Given the description of an element on the screen output the (x, y) to click on. 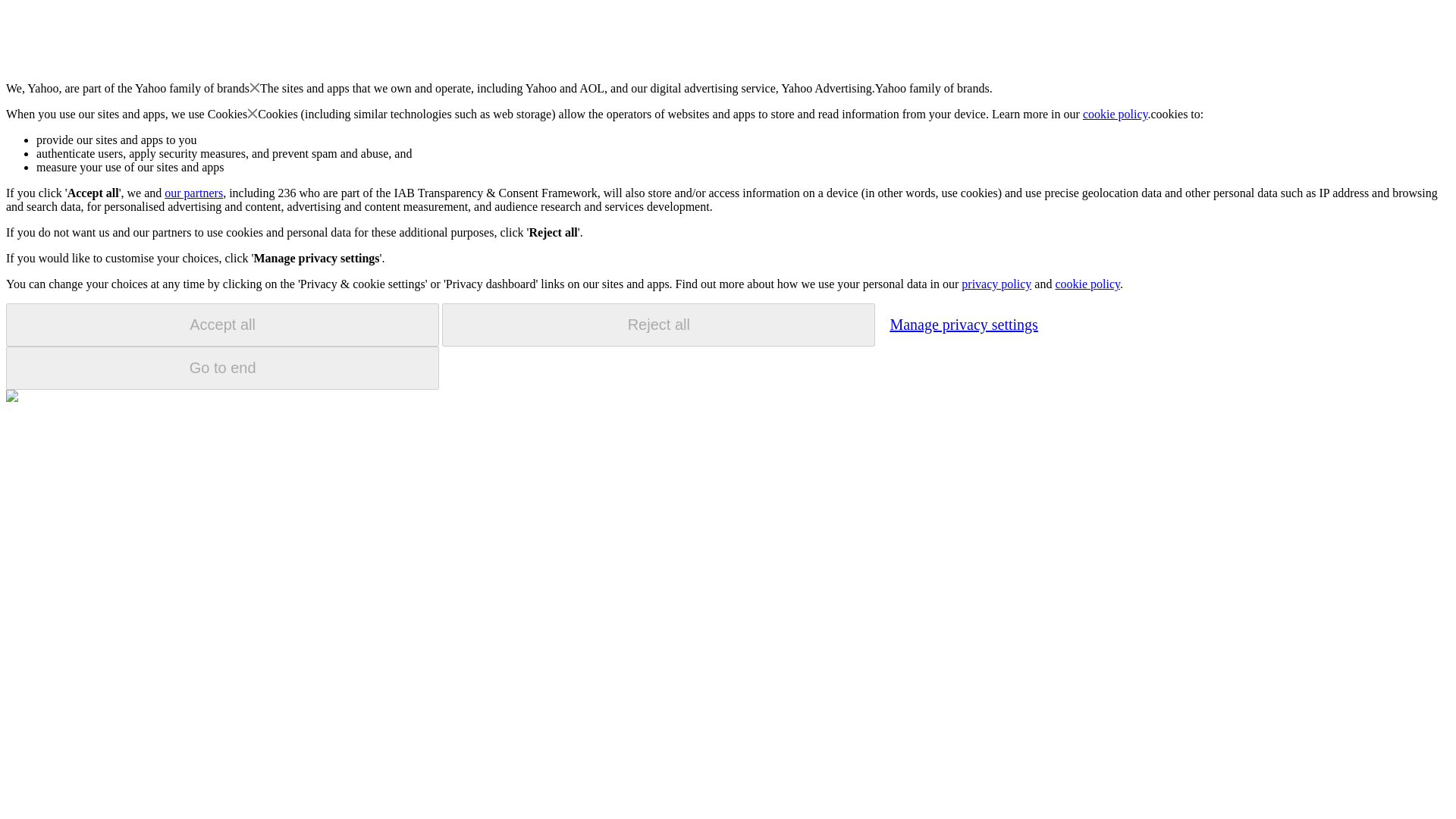
cookie policy (1115, 113)
Go to end (222, 367)
Manage privacy settings (963, 323)
privacy policy (995, 283)
Accept all (222, 324)
our partners (193, 192)
cookie policy (1086, 283)
Reject all (658, 324)
